Given the description of an element on the screen output the (x, y) to click on. 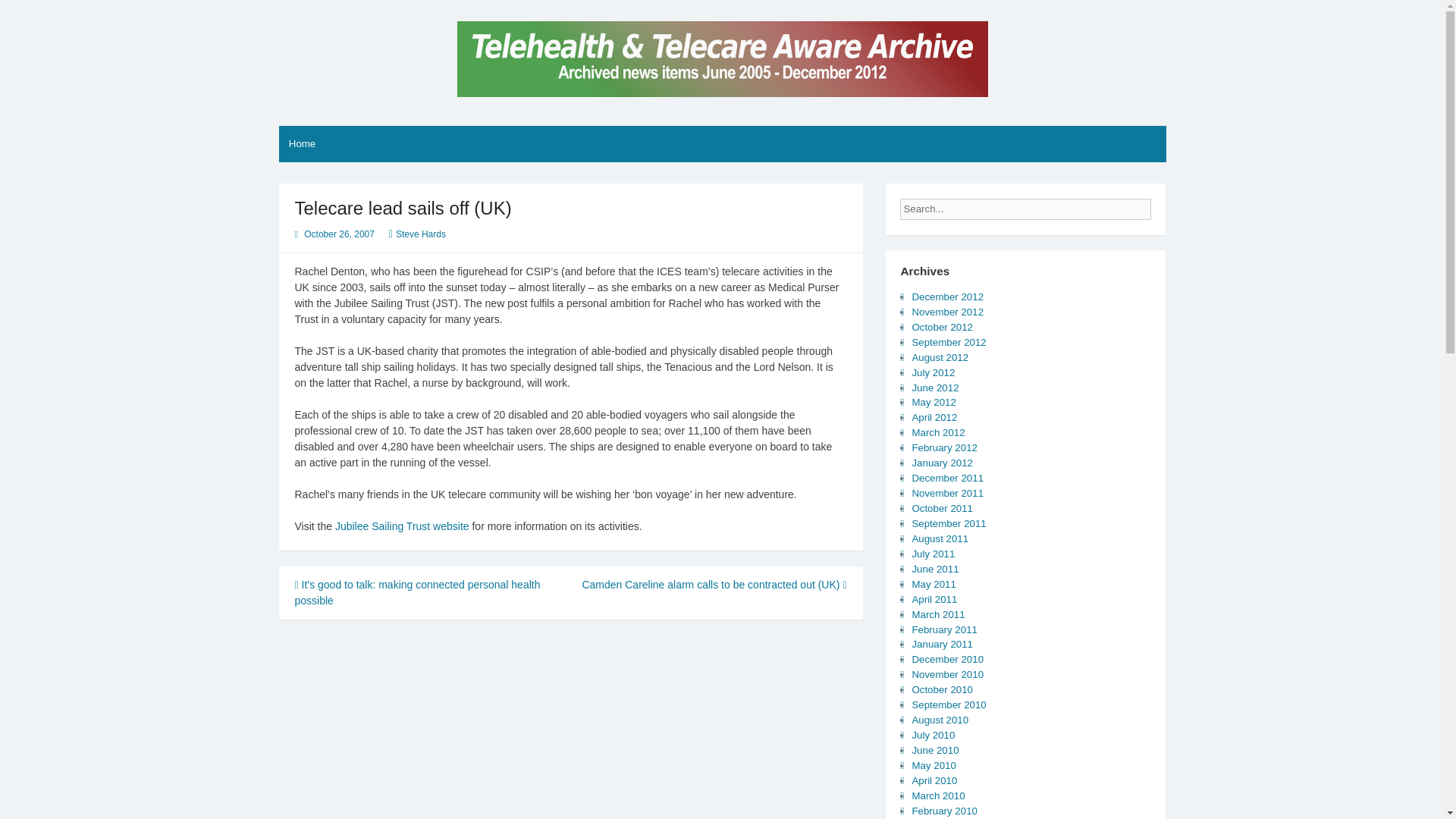
TTA Archives 2005-2012 (399, 117)
July 2012 (933, 372)
March 2012 (937, 432)
Jubilee Sailing Trust website (401, 526)
March 2011 (937, 614)
April 2012 (933, 417)
December 2011 (947, 478)
December 2010 (947, 659)
Search (1163, 204)
July 2011 (933, 553)
